Given the description of an element on the screen output the (x, y) to click on. 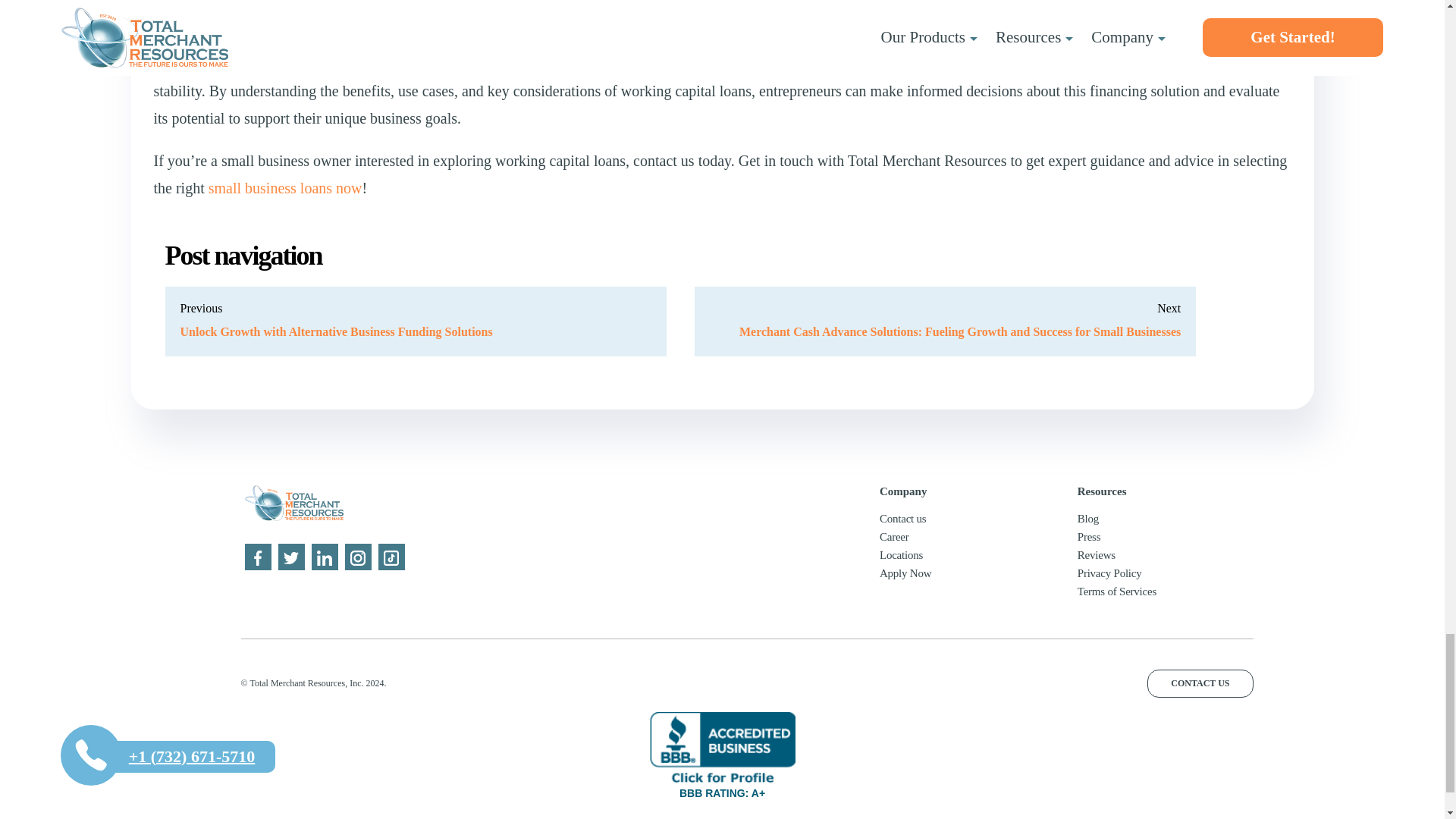
Reviews (1096, 554)
Contact us (902, 518)
Privacy Policy (1109, 573)
Press (1088, 536)
small business loans now (285, 187)
Locations (901, 554)
Apply Now (905, 573)
Career (893, 536)
Blog (1088, 518)
